Given the description of an element on the screen output the (x, y) to click on. 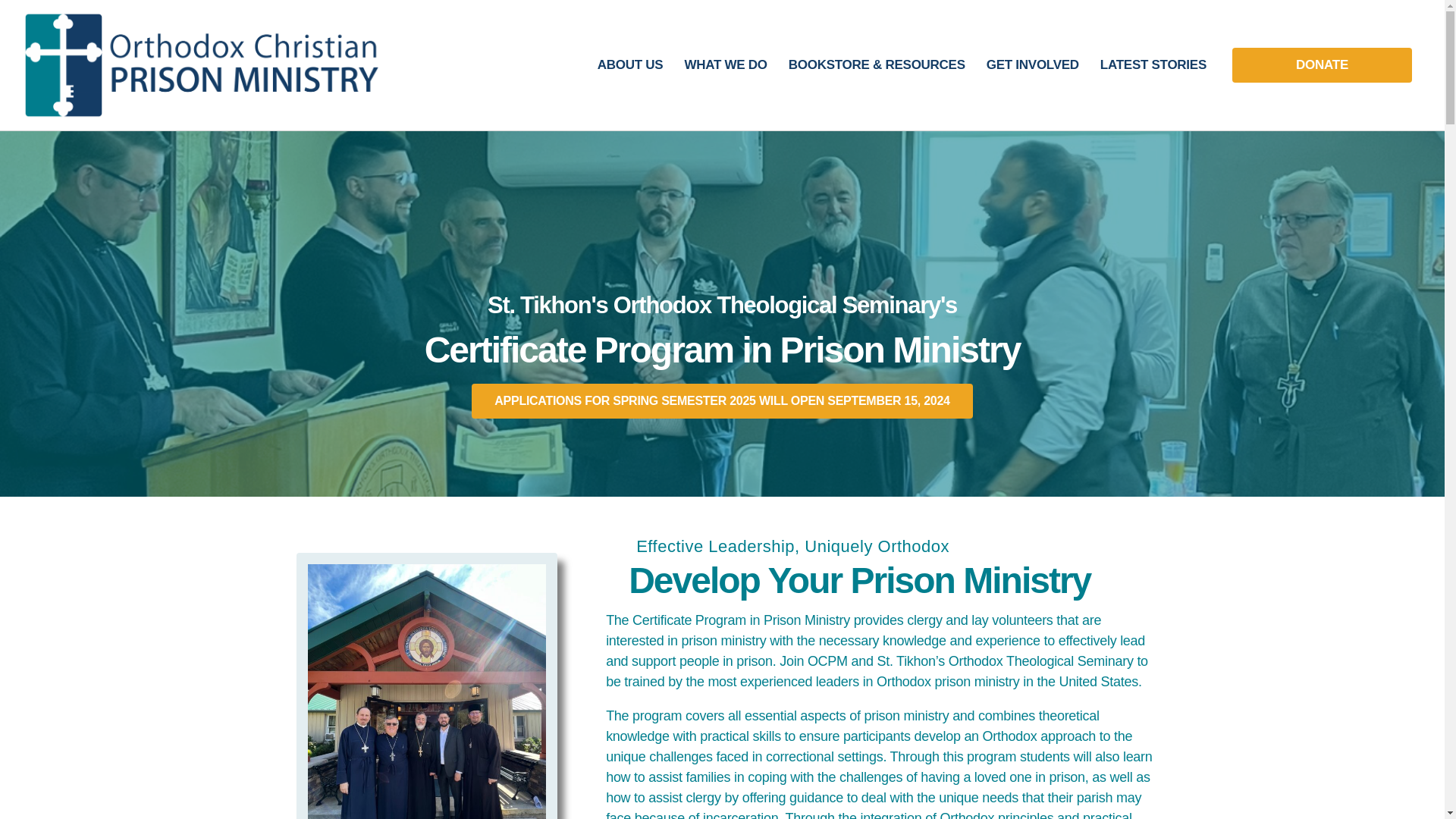
ABOUT US (630, 64)
LATEST STORIES (1153, 64)
WHAT WE DO (724, 64)
GET INVOLVED (1032, 64)
